Given the description of an element on the screen output the (x, y) to click on. 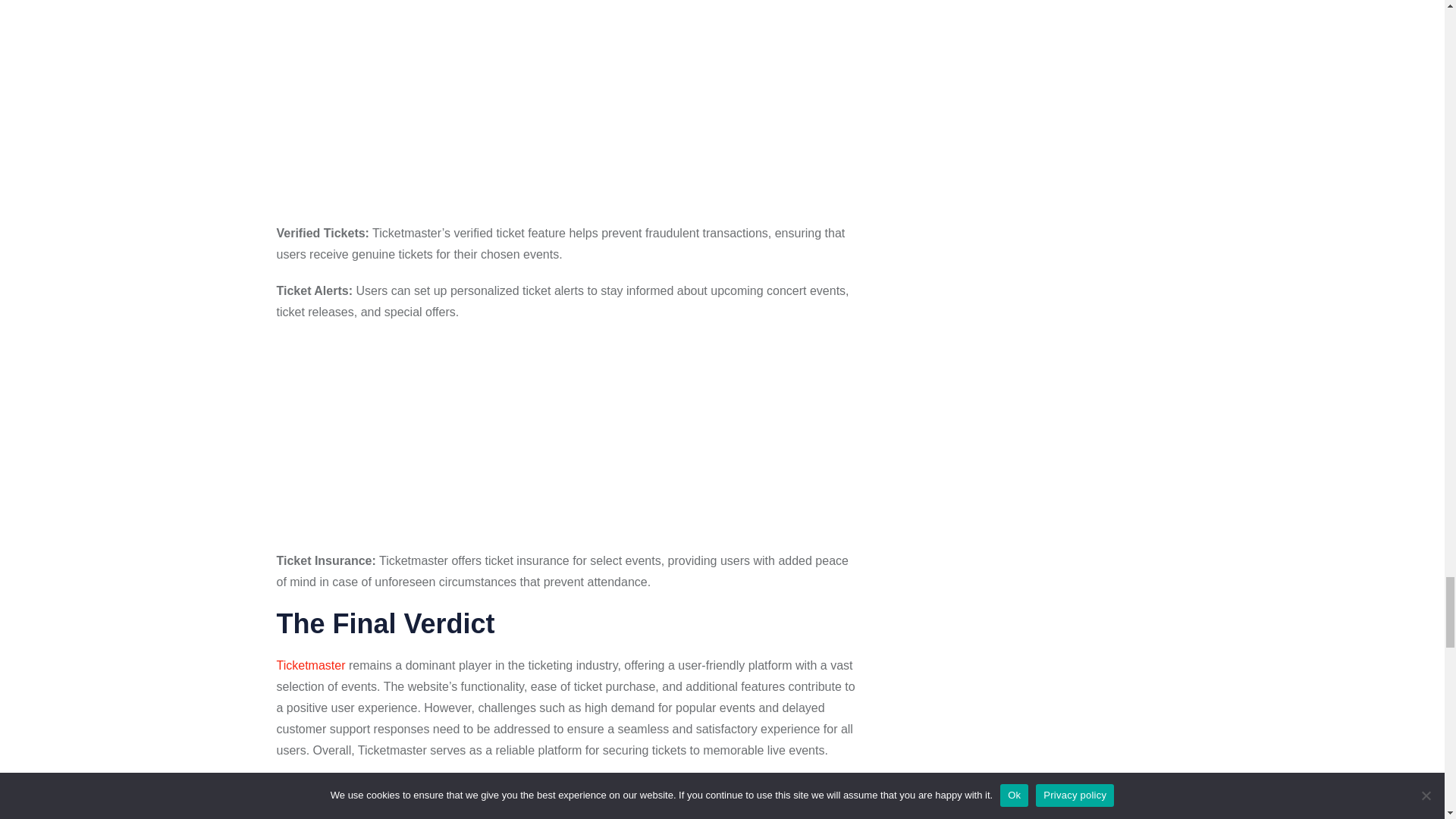
Ticketmaster (310, 665)
